Given the description of an element on the screen output the (x, y) to click on. 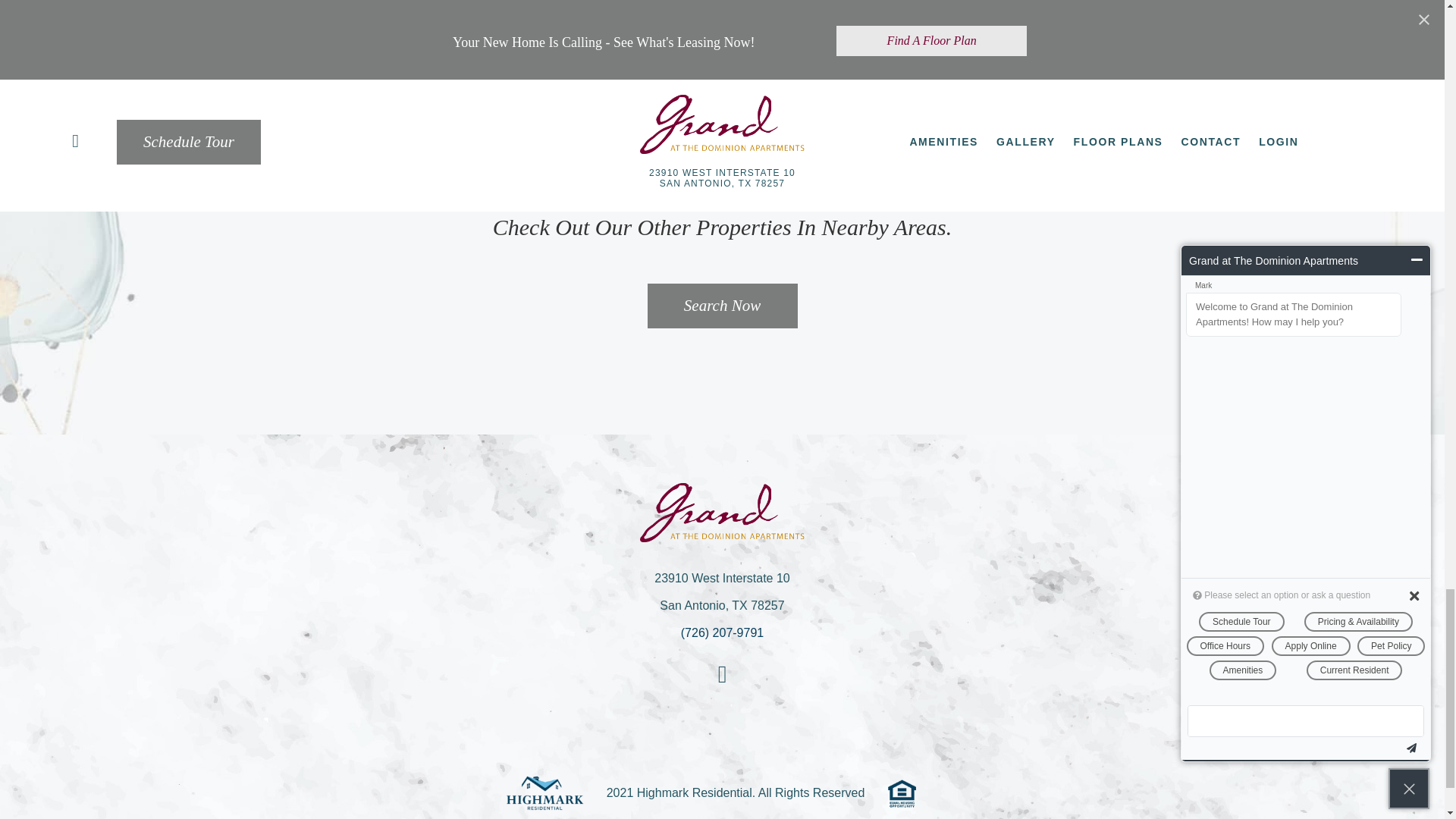
Search Now (722, 305)
